Given the description of an element on the screen output the (x, y) to click on. 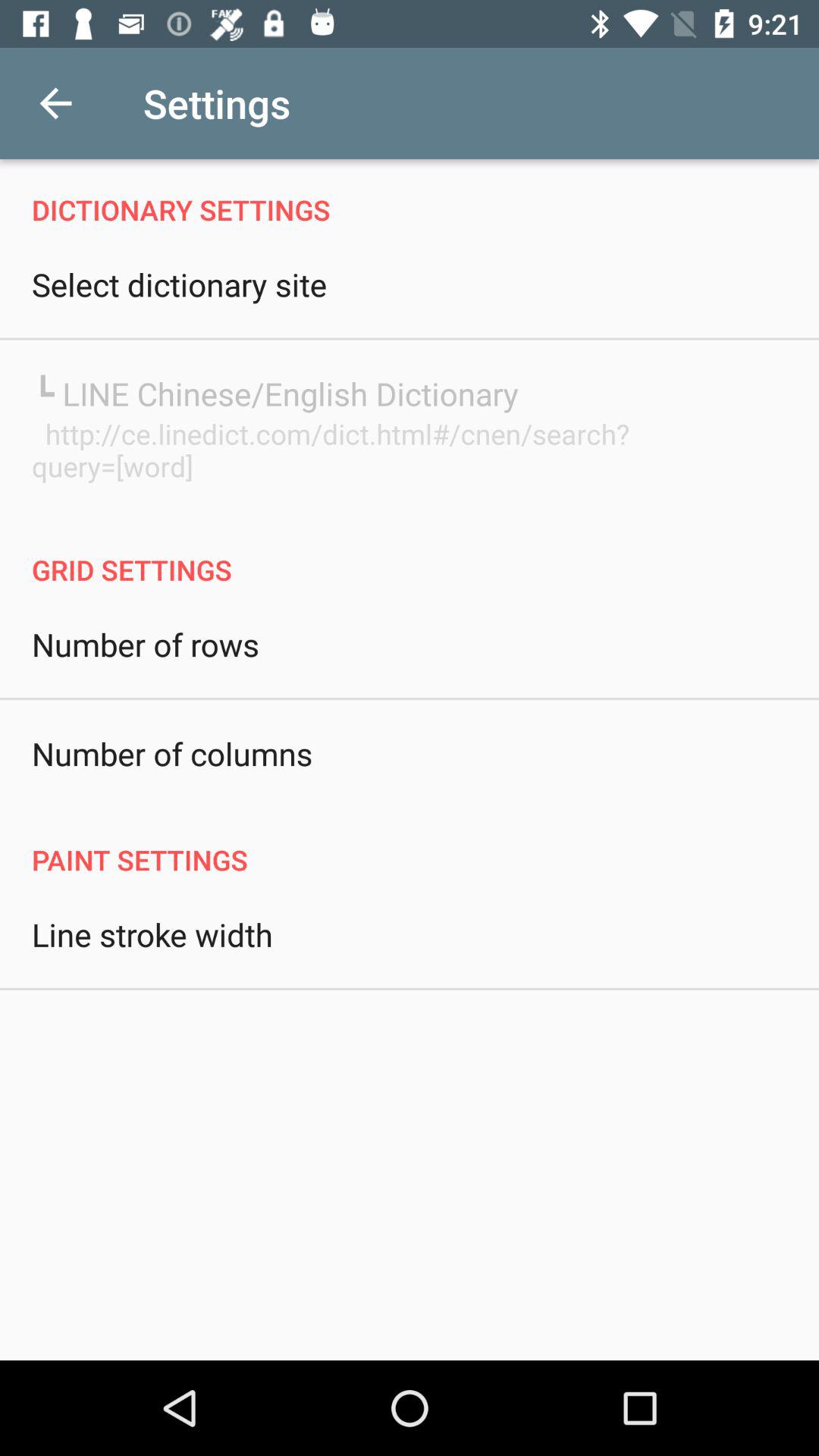
choose item to the left of settings (55, 103)
